Given the description of an element on the screen output the (x, y) to click on. 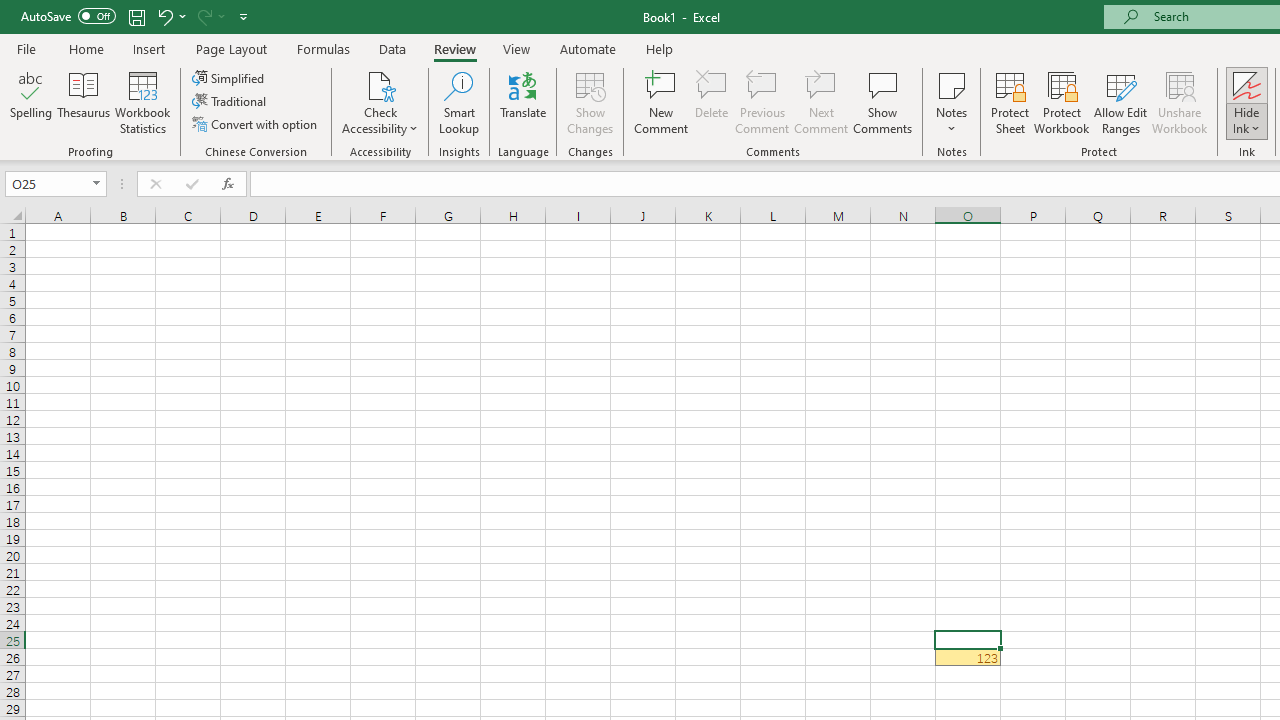
Smart Lookup (459, 102)
Undo (170, 15)
Previous Comment (762, 102)
Undo (164, 15)
Convert with option (256, 124)
Name Box (46, 183)
Spelling... (31, 102)
System (10, 11)
Protect Workbook... (1061, 102)
Automate (588, 48)
Help (660, 48)
Notes (951, 102)
Page Layout (230, 48)
Formulas (323, 48)
Traditional (230, 101)
